Given the description of an element on the screen output the (x, y) to click on. 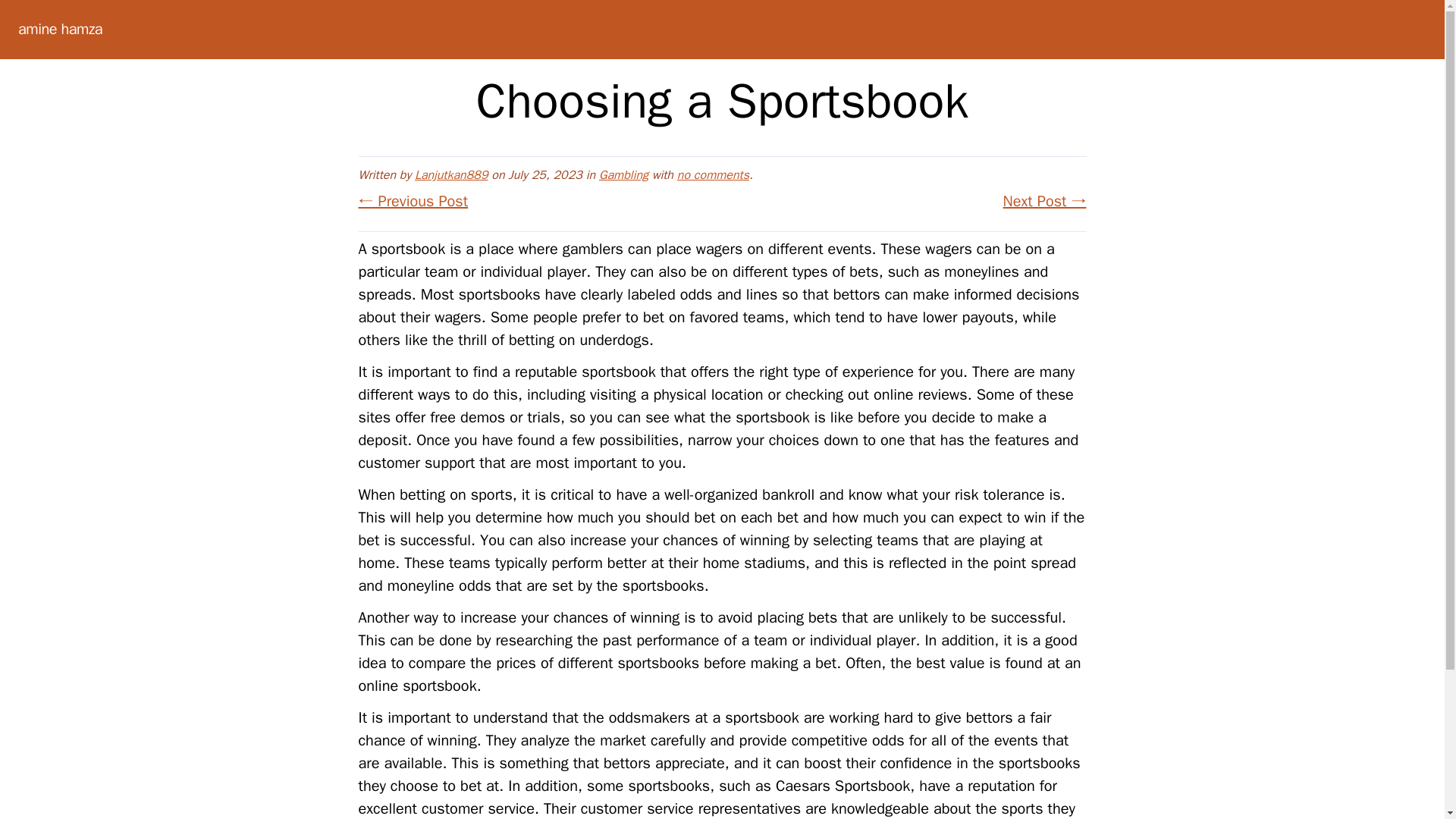
amine hamza (59, 29)
Gambling (622, 174)
Lanjutkan889 (450, 174)
no comments (713, 174)
no comments (713, 174)
